Given the description of an element on the screen output the (x, y) to click on. 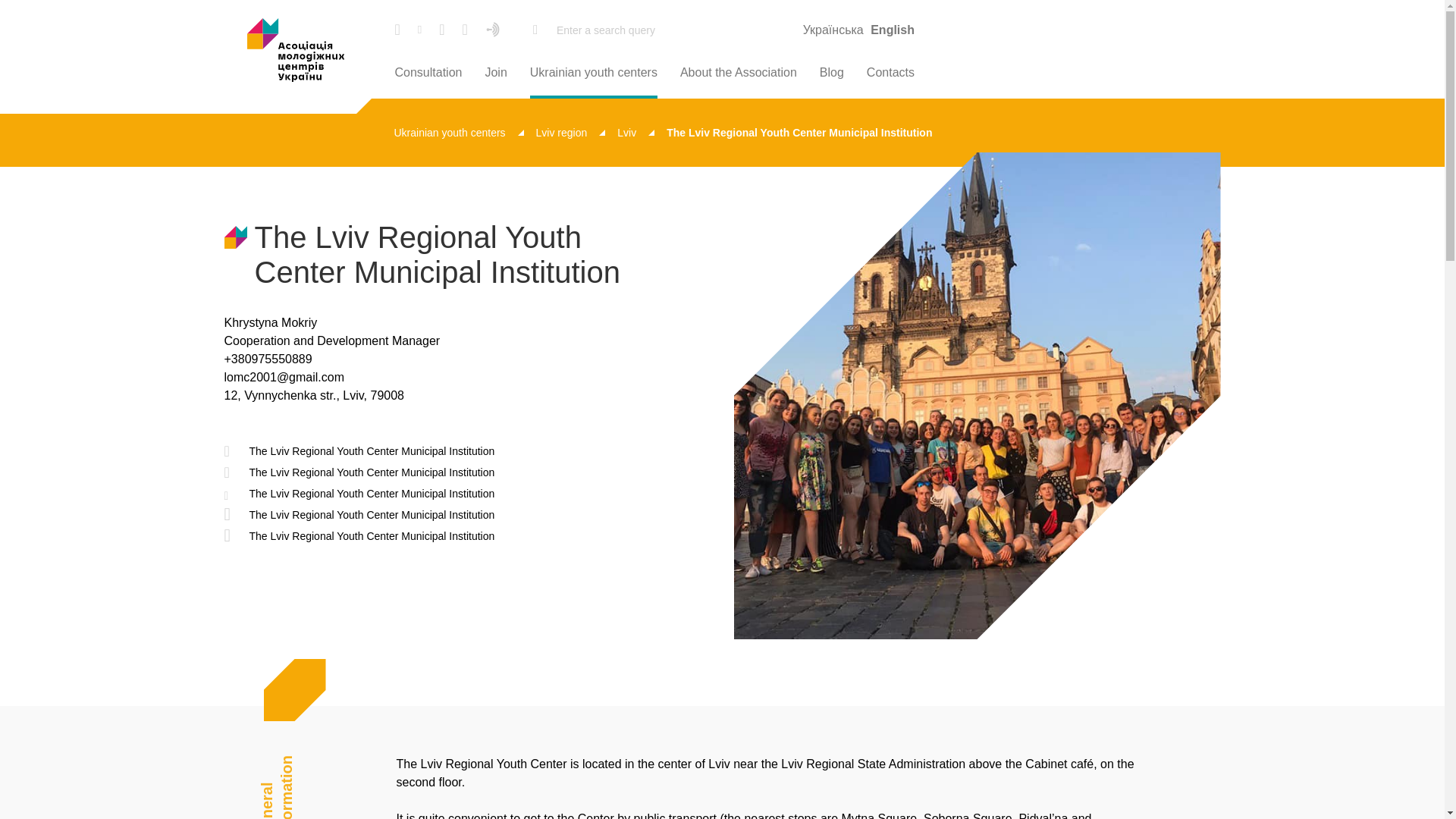
The Lviv Regional Youth Center Municipal Institution (359, 493)
Ukrainian youth centers (459, 132)
Contacts (890, 72)
The Lviv Regional Youth Center Municipal Institution (359, 514)
The Lviv Regional Youth Center Municipal Institution (359, 536)
The Lviv Regional Youth Center Municipal Institution (359, 450)
Join (495, 72)
The Lviv Regional Youth Center Municipal Institution (359, 472)
AYCU (295, 49)
Lviv (635, 132)
Ukrainian youth centers (593, 72)
About the Association (737, 72)
Blog (831, 72)
Member of the Association of Youth Centers of Ukraine (429, 254)
Lviv region (570, 132)
